Given the description of an element on the screen output the (x, y) to click on. 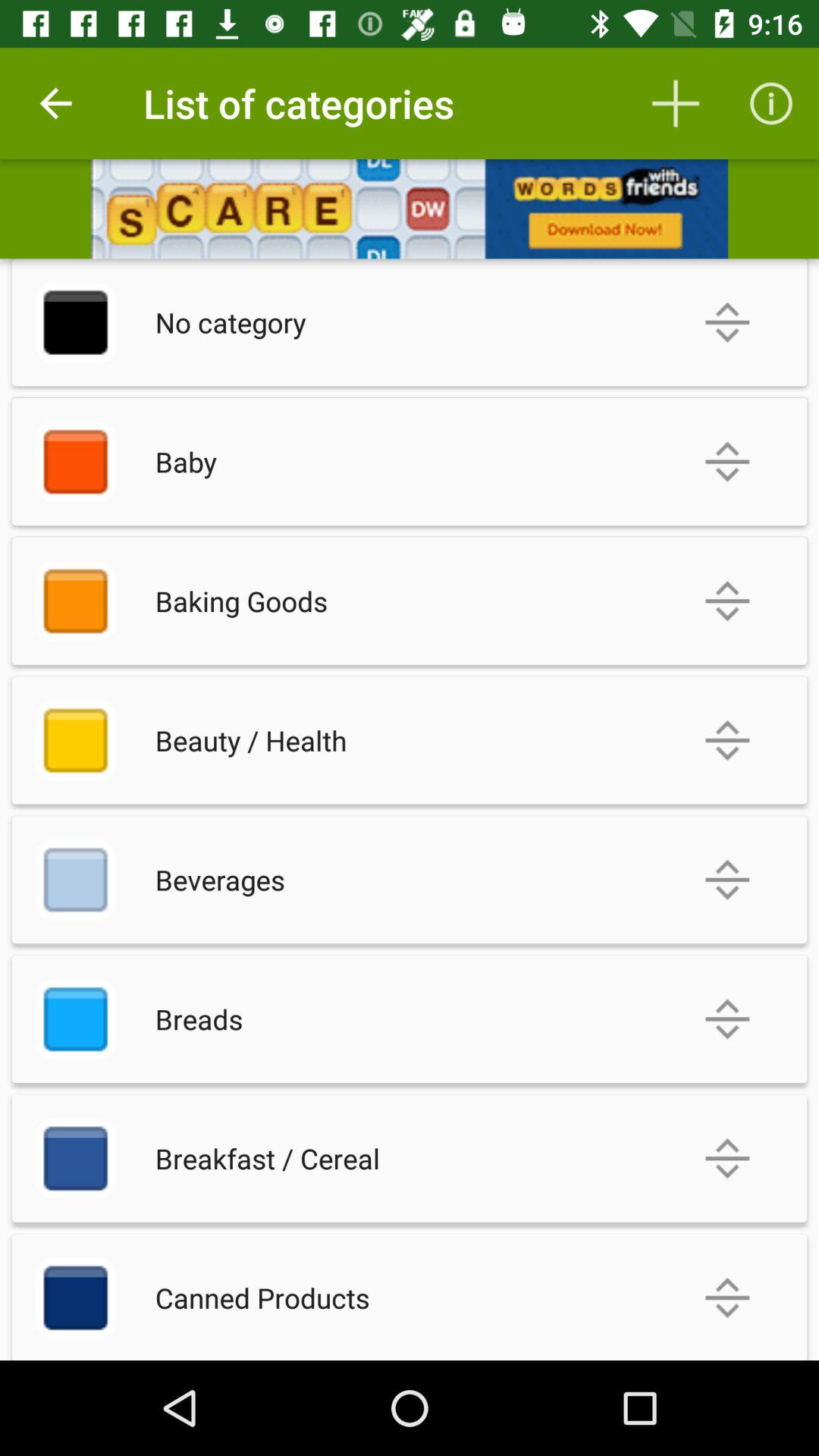
advertise an app (409, 208)
